Given the description of an element on the screen output the (x, y) to click on. 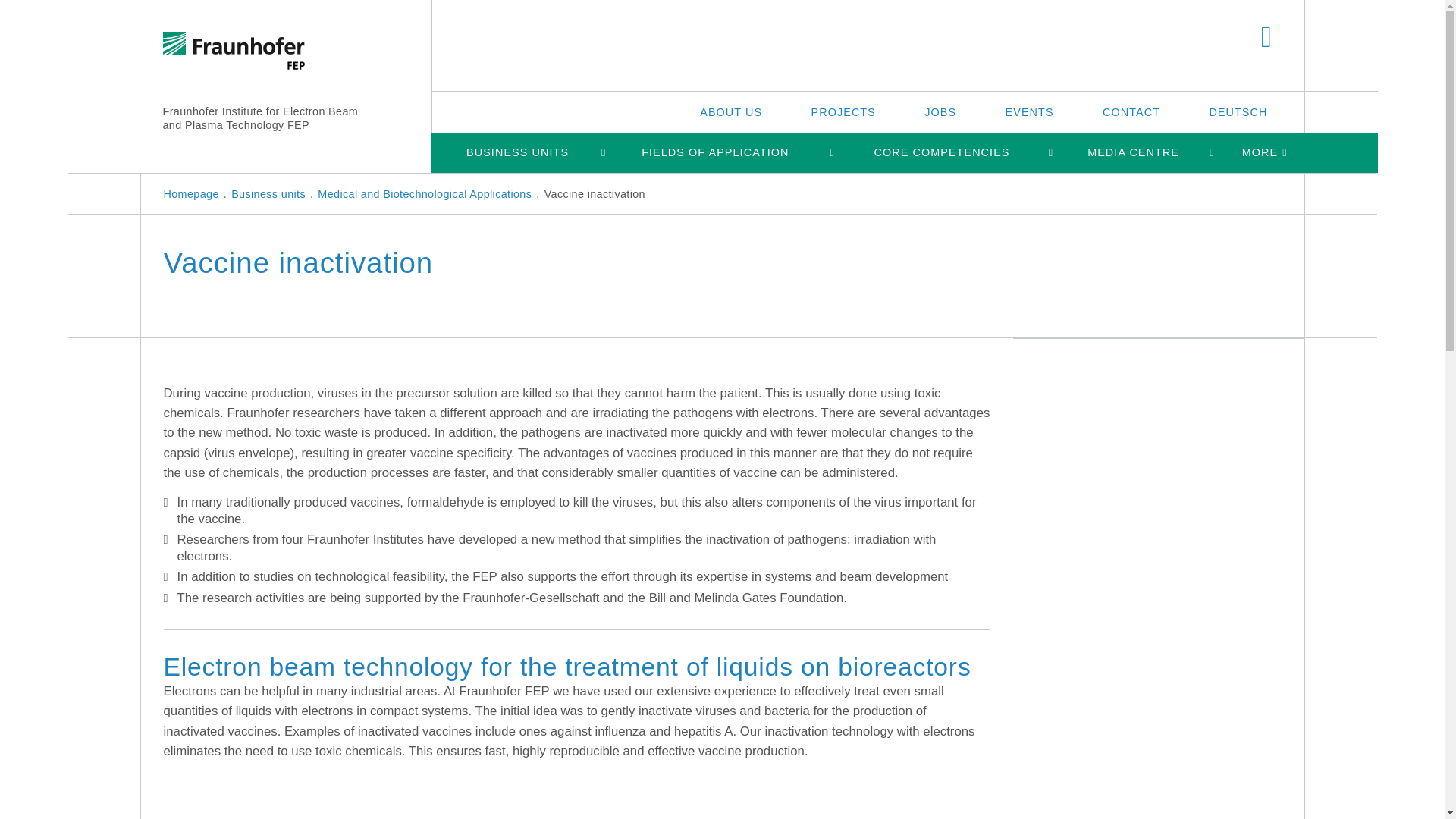
YouTube video player (353, 790)
JOBS (939, 111)
SEARCH (1266, 37)
FIELDS OF APPLICATION (714, 151)
EVENTS (1029, 111)
CONTACT (1131, 111)
ABOUT US (730, 111)
DEUTSCH (1238, 111)
PROJECTS (843, 111)
